Given the description of an element on the screen output the (x, y) to click on. 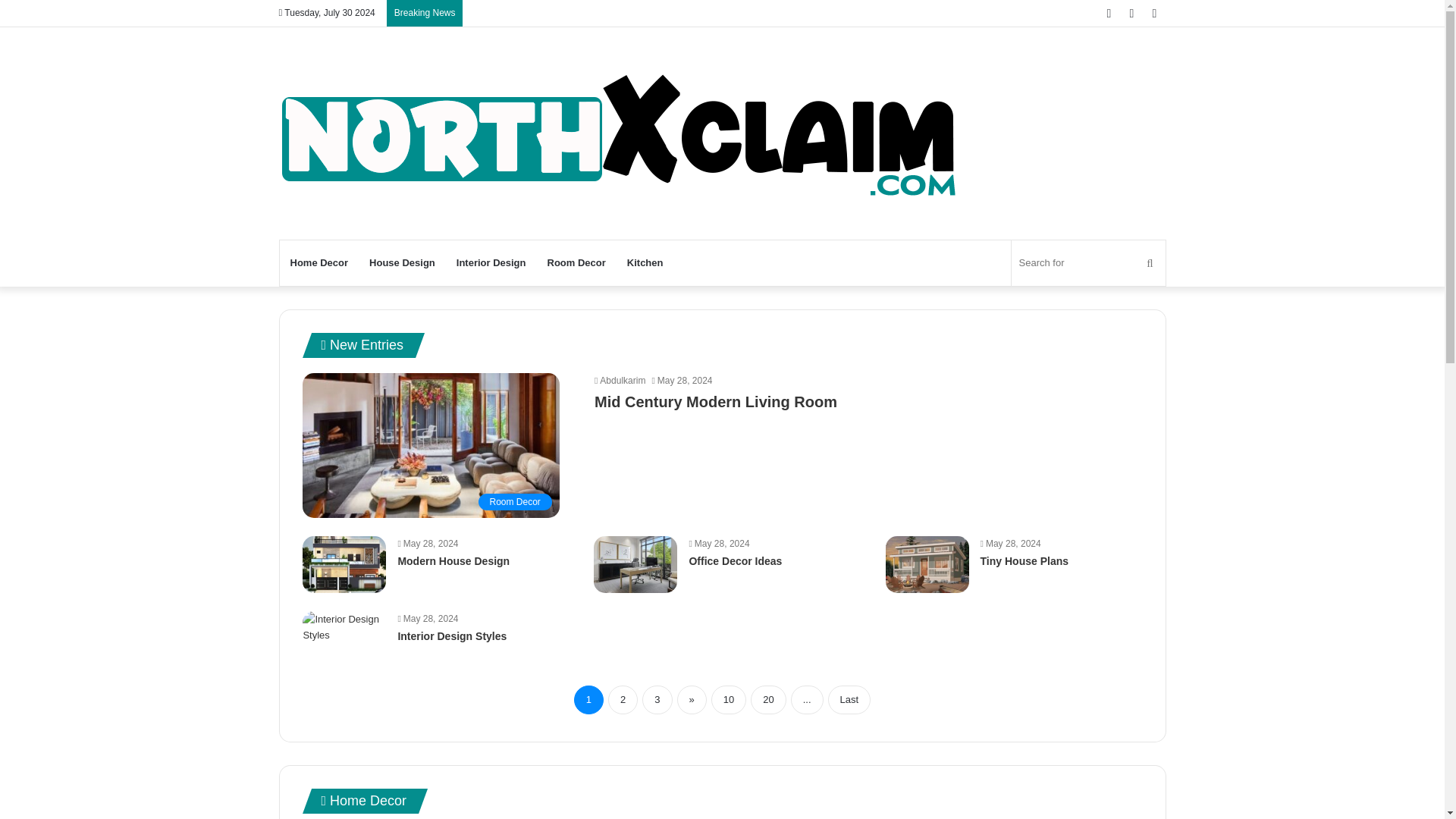
Room Decor (430, 445)
Room Decor (576, 262)
20 (768, 699)
Northxclaim.Com (619, 133)
Mid Century Modern Living Room (715, 401)
2 (622, 699)
Search for (1088, 262)
Abdulkarim (619, 380)
House Design (401, 262)
Tiny House Plans (1023, 561)
Kitchen (644, 262)
Interior Design Styles (451, 635)
Interior Design (491, 262)
Last (849, 699)
Abdulkarim (619, 380)
